Given the description of an element on the screen output the (x, y) to click on. 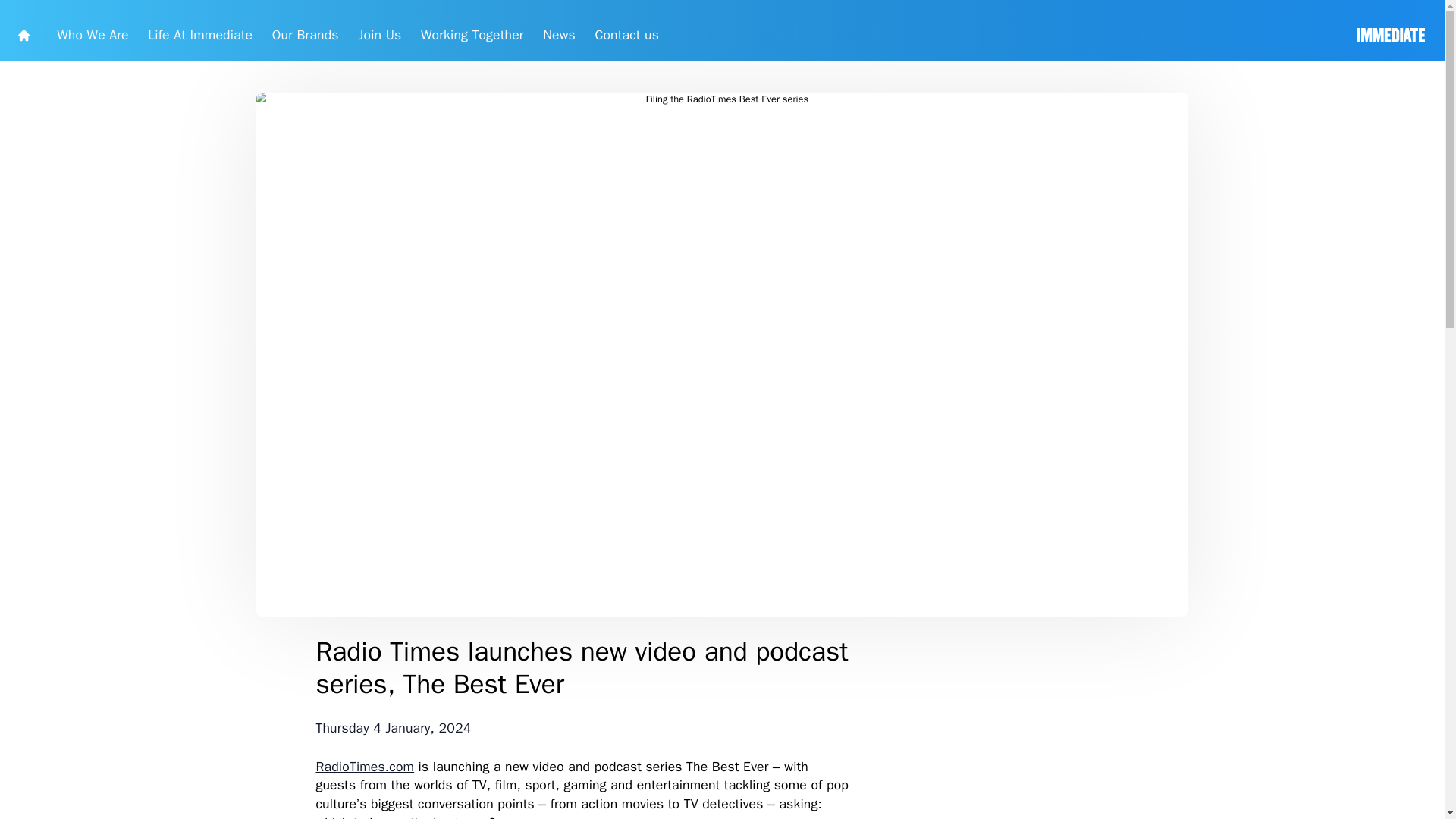
Contact us (782, 38)
Working Together (589, 38)
Our Brands (382, 38)
Join Us (474, 38)
Who We Are (116, 38)
Life At Immediate (250, 38)
